Given the description of an element on the screen output the (x, y) to click on. 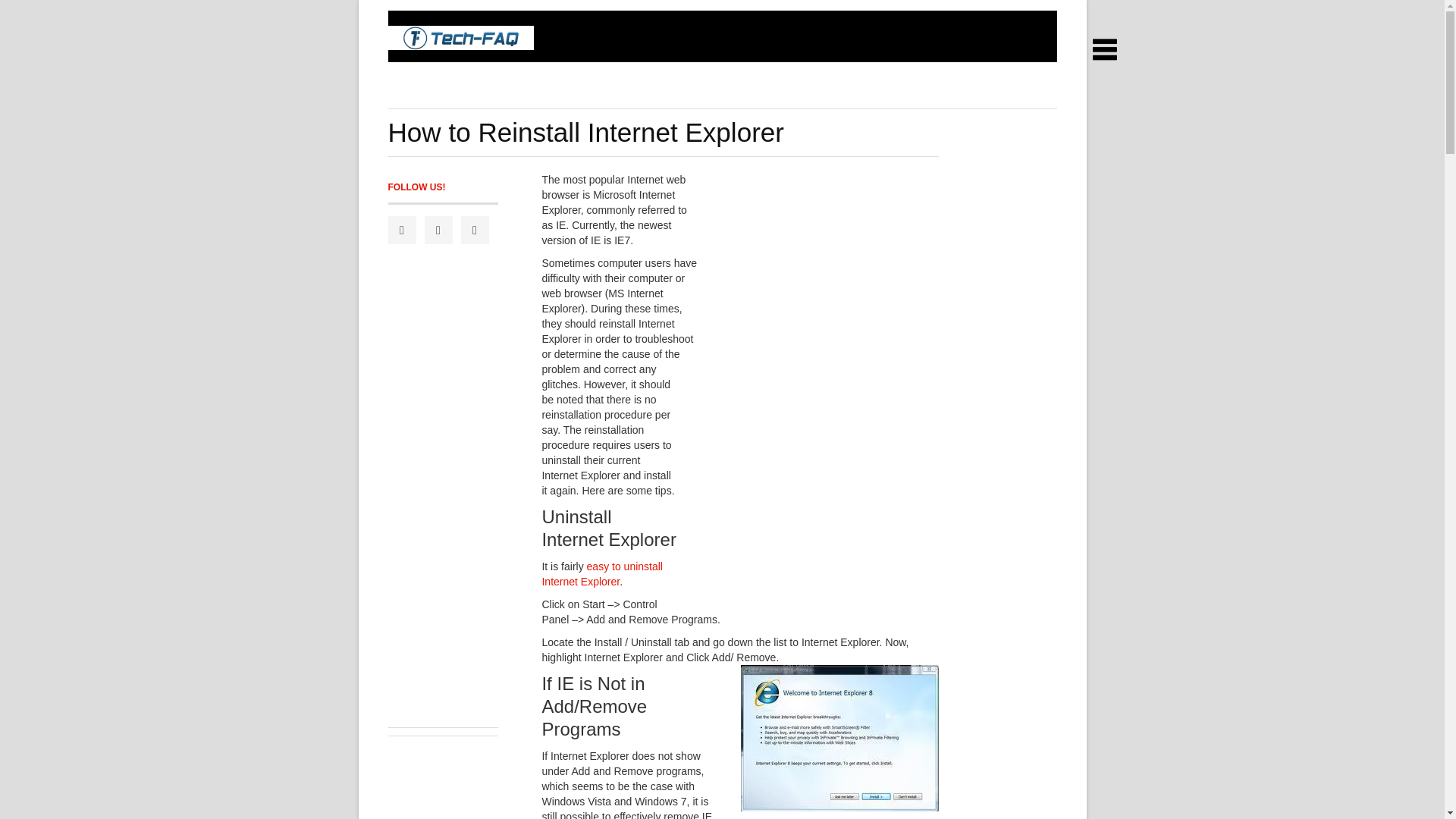
Youtube (475, 230)
Facebook (402, 230)
Twitter (438, 230)
How to Reinstall Internet Explorer (586, 132)
Advertisement (817, 273)
easy to uninstall Internet Explorer (601, 574)
How to Reinstall Internet Explorer (586, 132)
Advertisement (811, 492)
Tech-FAQ (460, 36)
Advertisement (664, 91)
how-to-reinstall-internet-explorer (840, 738)
